Given the description of an element on the screen output the (x, y) to click on. 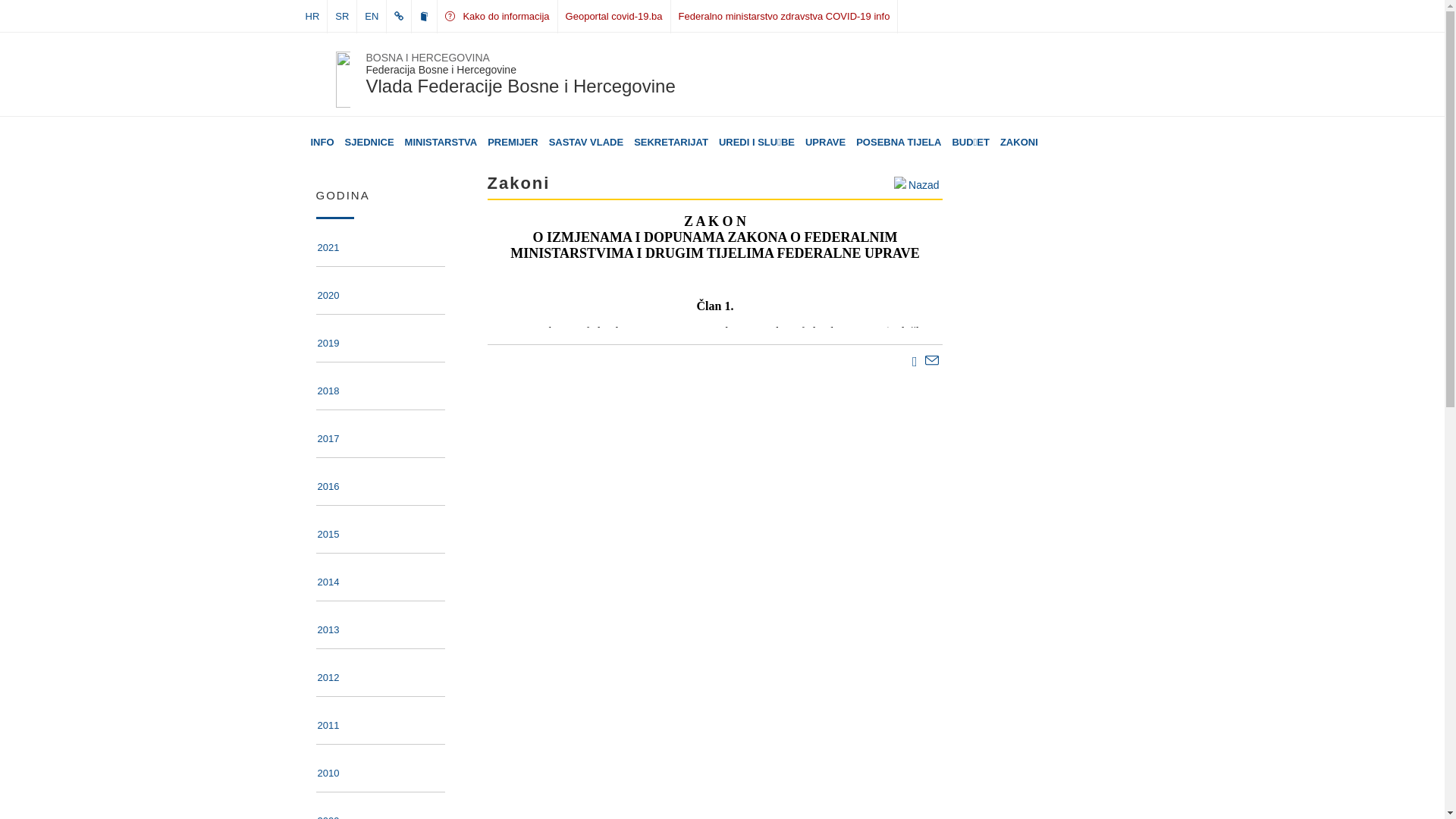
2011 Element type: text (327, 727)
2019 Element type: text (327, 345)
INFO Element type: text (322, 141)
2020 Element type: text (327, 297)
PREMIJER Element type: text (512, 141)
2012 Element type: text (327, 680)
SASTAV VLADE Element type: text (586, 141)
2013 Element type: text (327, 632)
ZAKONI Element type: text (1019, 141)
2017 Element type: text (327, 441)
2015 Element type: text (327, 536)
2018 Element type: text (327, 393)
Nazad Element type: text (915, 183)
POSEBNA TIJELA Element type: text (898, 141)
2010 Element type: text (327, 775)
SEKRETARIJAT Element type: text (670, 141)
2014 Element type: text (327, 584)
2016 Element type: text (327, 488)
UPRAVE Element type: text (825, 141)
SJEDNICE Element type: text (369, 141)
2021 Element type: text (327, 250)
MINISTARSTVA Element type: text (440, 141)
